Given the description of an element on the screen output the (x, y) to click on. 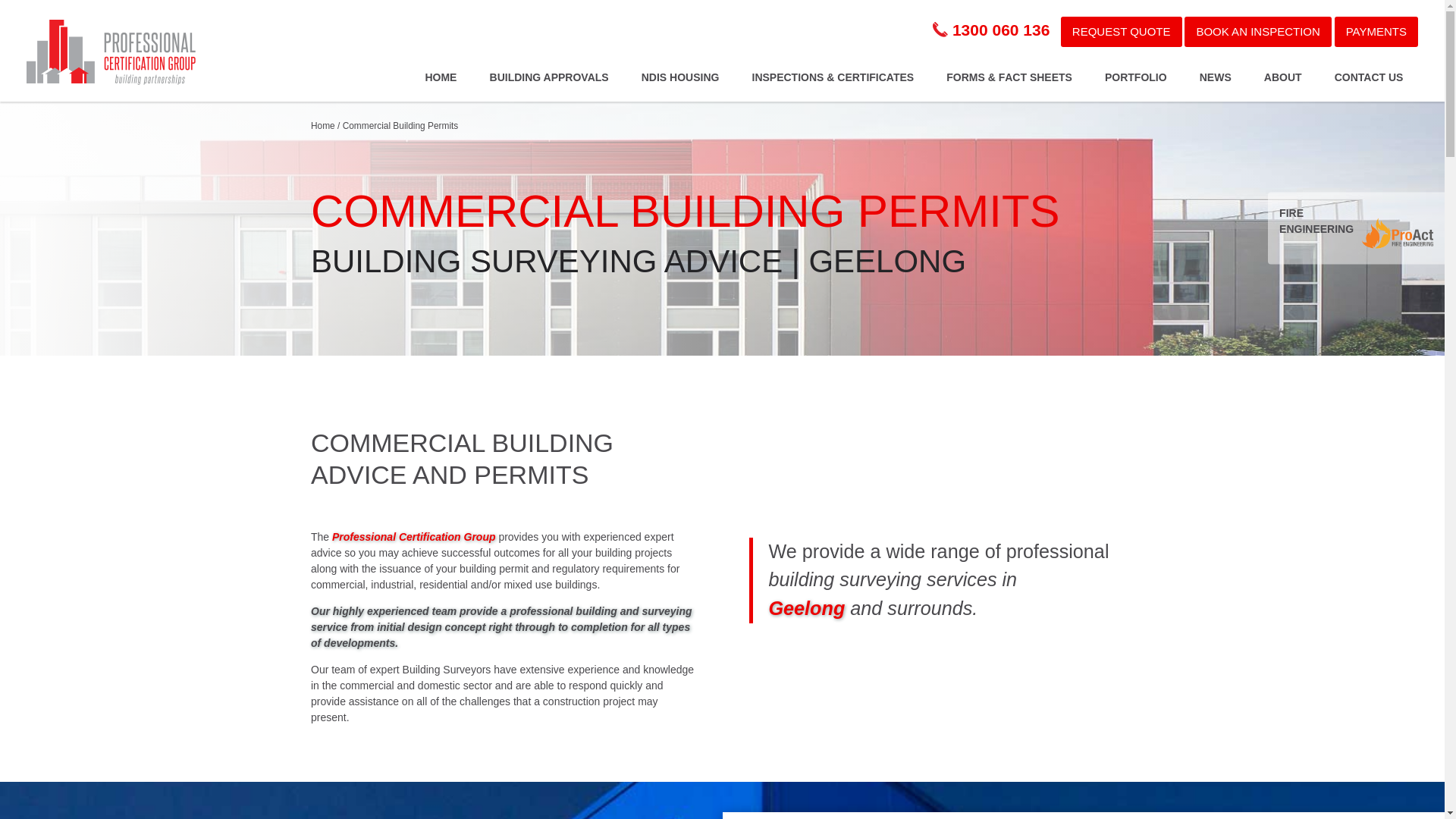
NDIS Housing (679, 76)
BOOK AN INSPECTION (1257, 31)
1300 060 136 (991, 29)
Home (440, 76)
Contact Us (1368, 76)
About (1282, 76)
News (1215, 76)
Portfolio (1134, 76)
Home (322, 125)
Building Approvals (548, 76)
